Given the description of an element on the screen output the (x, y) to click on. 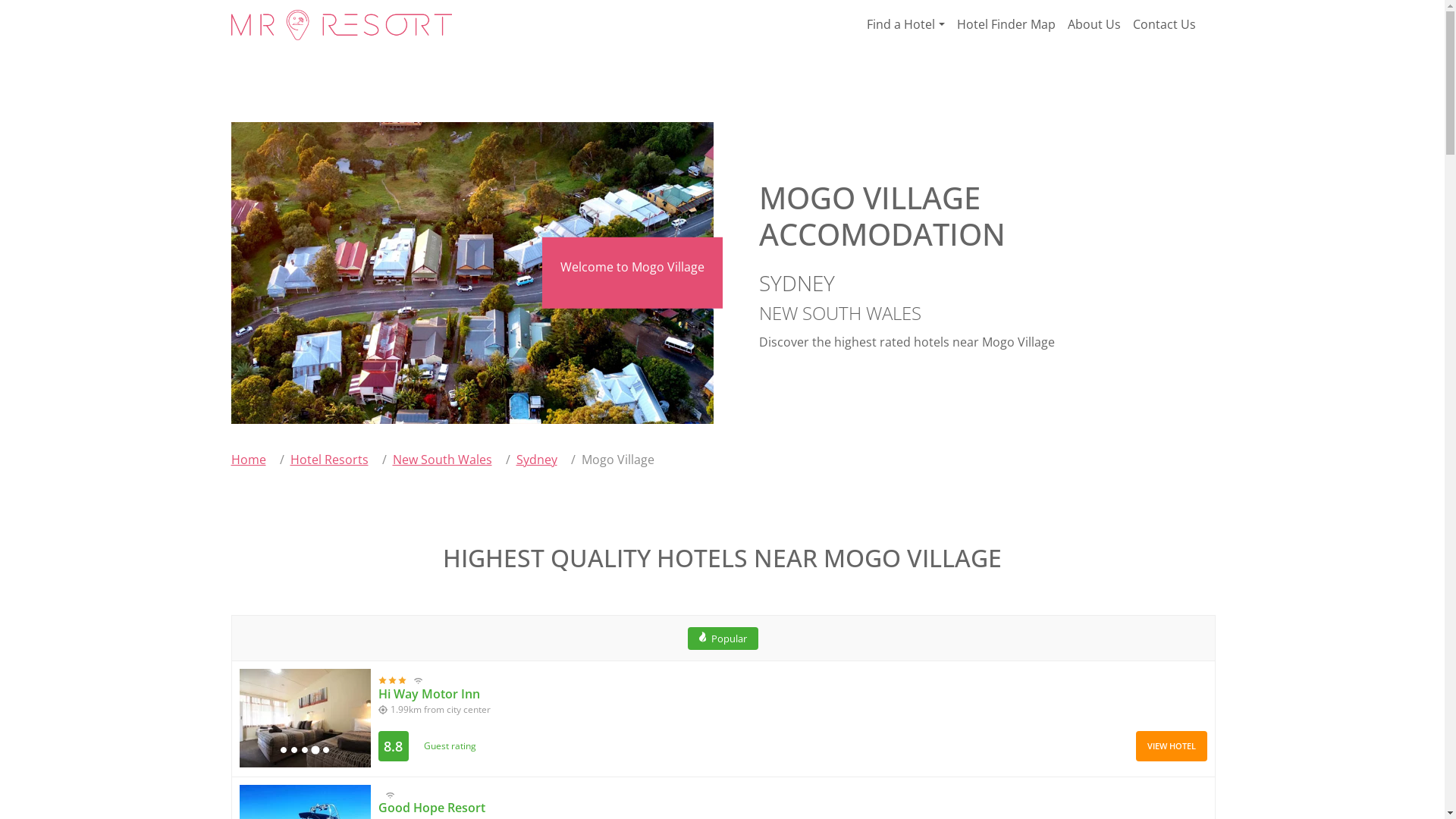
Find a Hotel Element type: text (905, 23)
Home Element type: text (247, 459)
Contact Us Element type: text (1163, 23)
Sydney Element type: text (535, 459)
Hotel Resorts Element type: text (328, 459)
Hotel Finder Map Element type: text (1005, 23)
About Us Element type: text (1093, 23)
New South Wales Element type: text (442, 459)
